Given the description of an element on the screen output the (x, y) to click on. 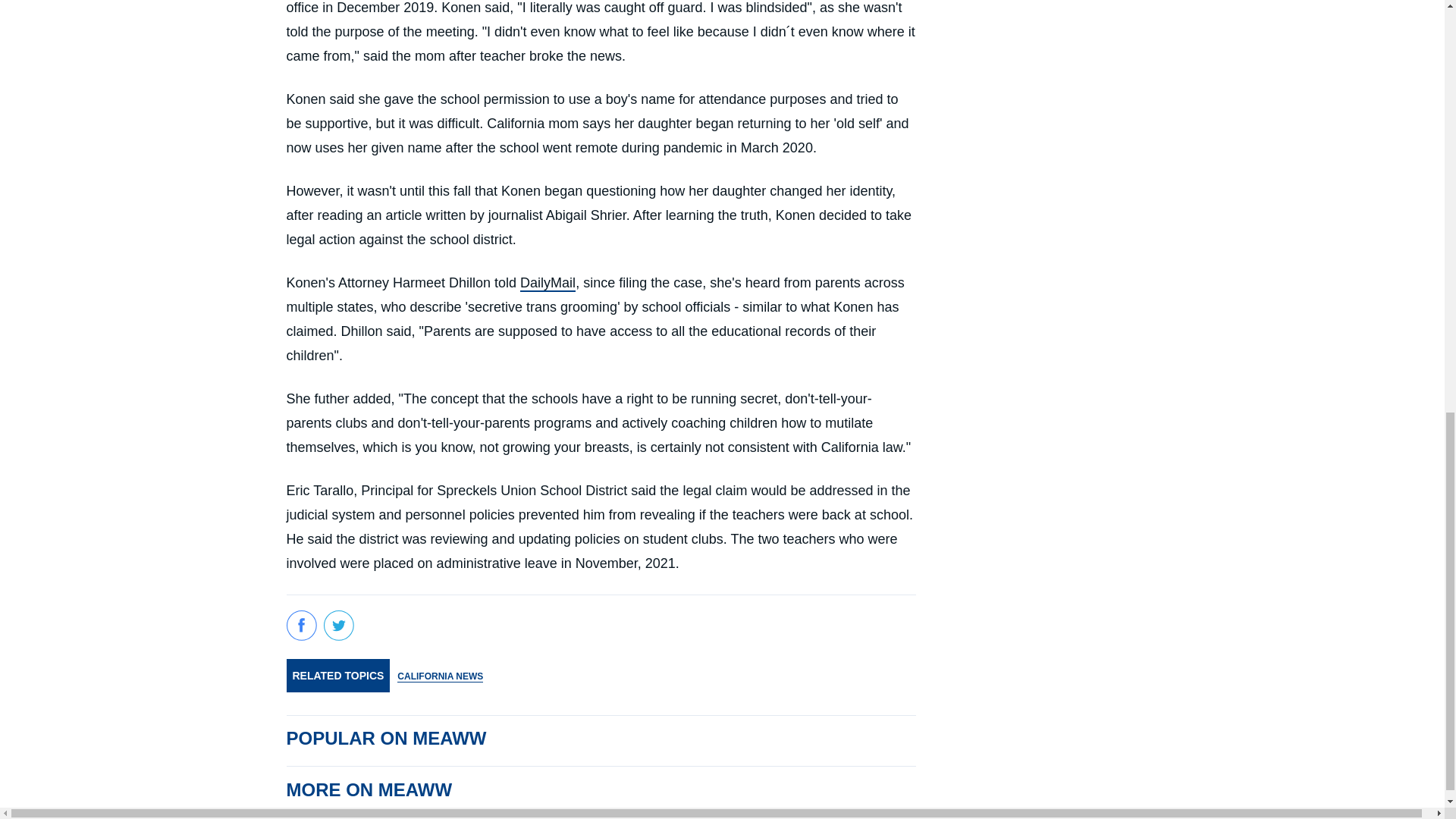
CALIFORNIA NEWS (440, 676)
DailyMail (547, 283)
